Given the description of an element on the screen output the (x, y) to click on. 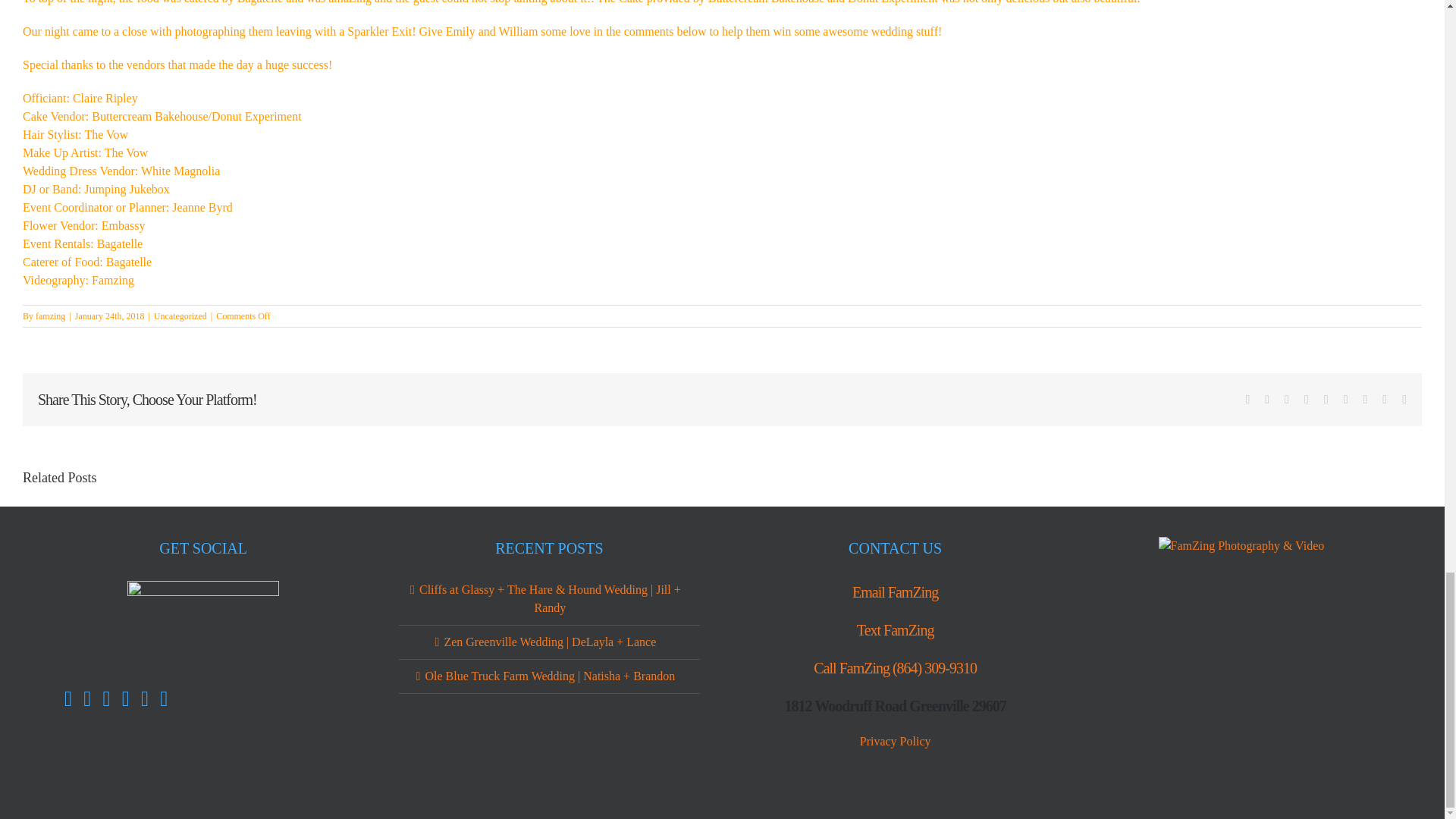
Posts by famzing (49, 316)
